Given the description of an element on the screen output the (x, y) to click on. 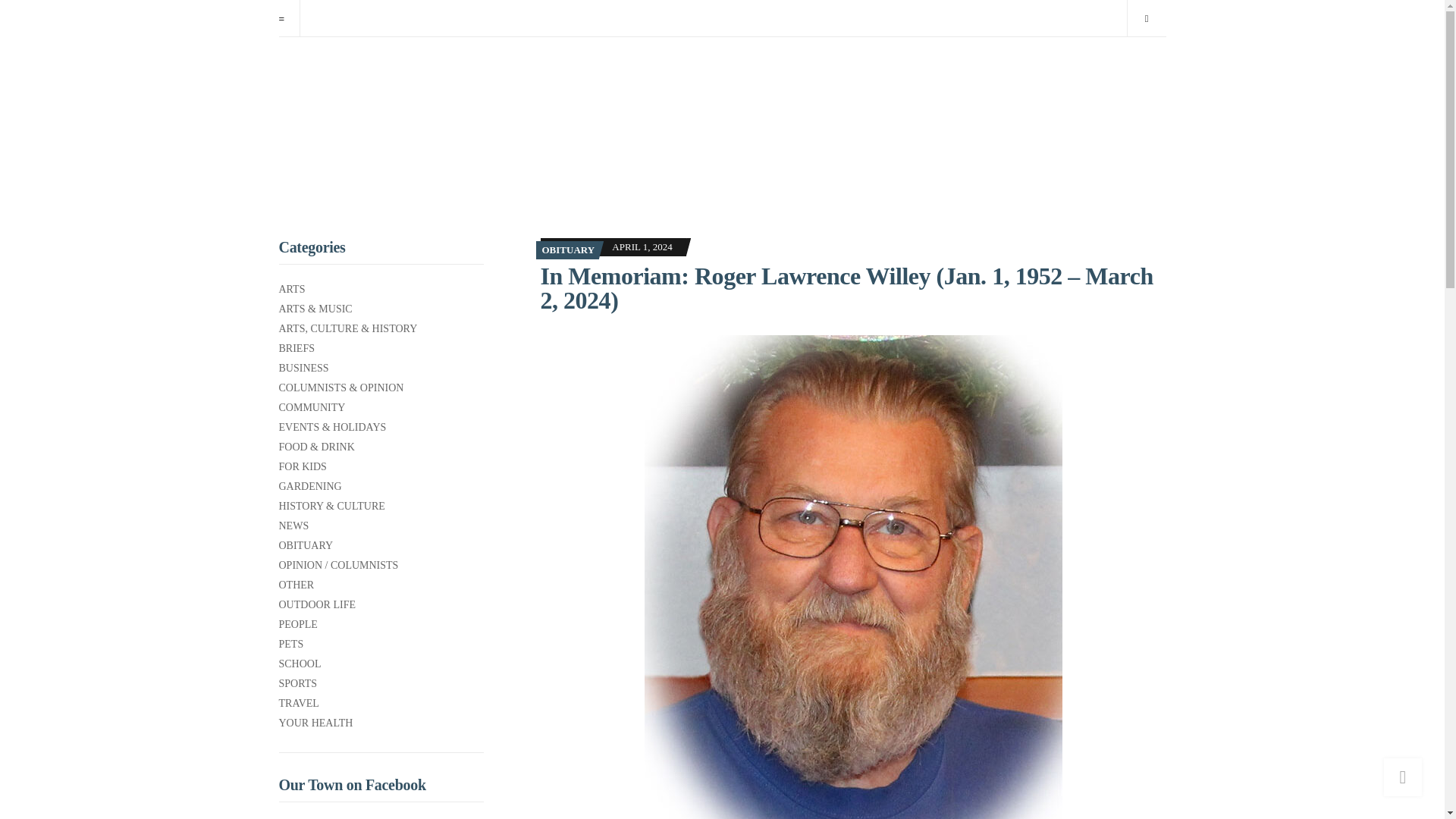
OTHER (381, 585)
ARTS (381, 289)
PETS (381, 644)
YOUR HEALTH (381, 723)
COMMUNITY (381, 408)
SPORTS (381, 684)
OBITUARY (381, 545)
OUTDOOR LIFE (381, 604)
OBITUARY (567, 249)
BRIEFS (381, 348)
FOR KIDS (381, 467)
SCHOOL (381, 664)
PEOPLE (381, 624)
BUSINESS (381, 368)
NEWS (381, 526)
